Given the description of an element on the screen output the (x, y) to click on. 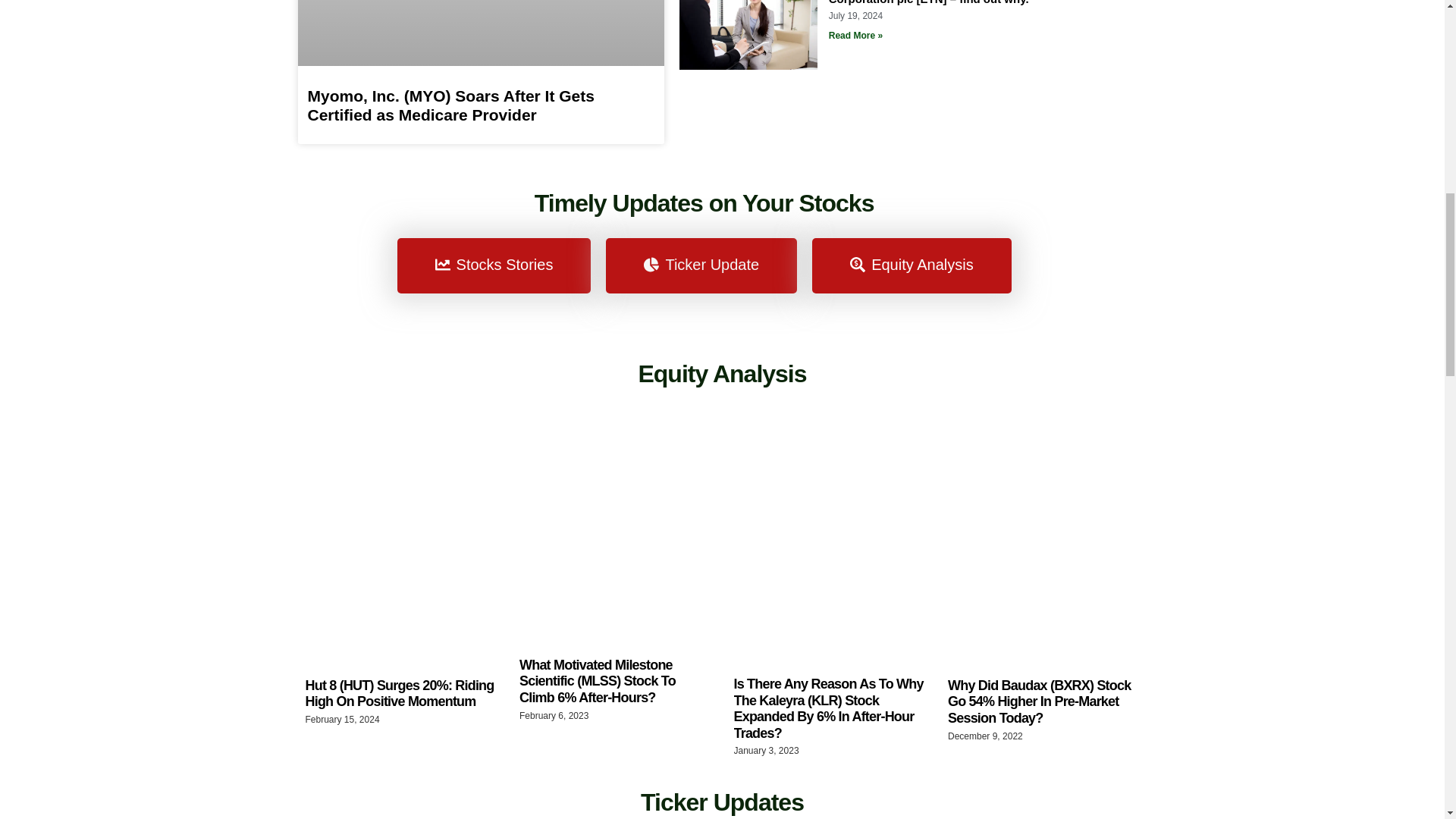
Equity Analysis (721, 373)
Ticker Update (700, 265)
Stocks Stories (494, 265)
Equity Analysis (911, 265)
